Given the description of an element on the screen output the (x, y) to click on. 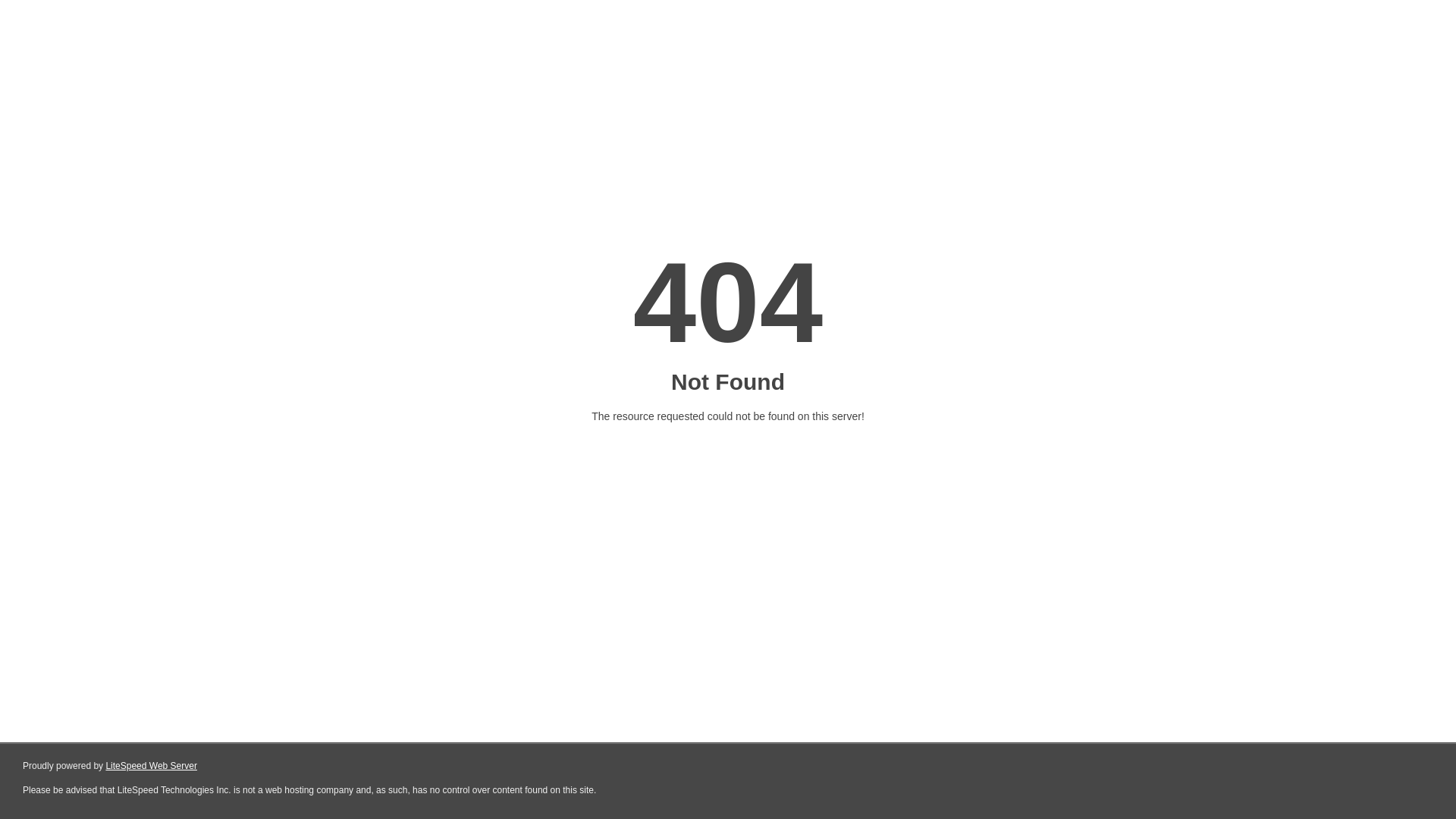
LiteSpeed Web Server Element type: text (151, 765)
